Given the description of an element on the screen output the (x, y) to click on. 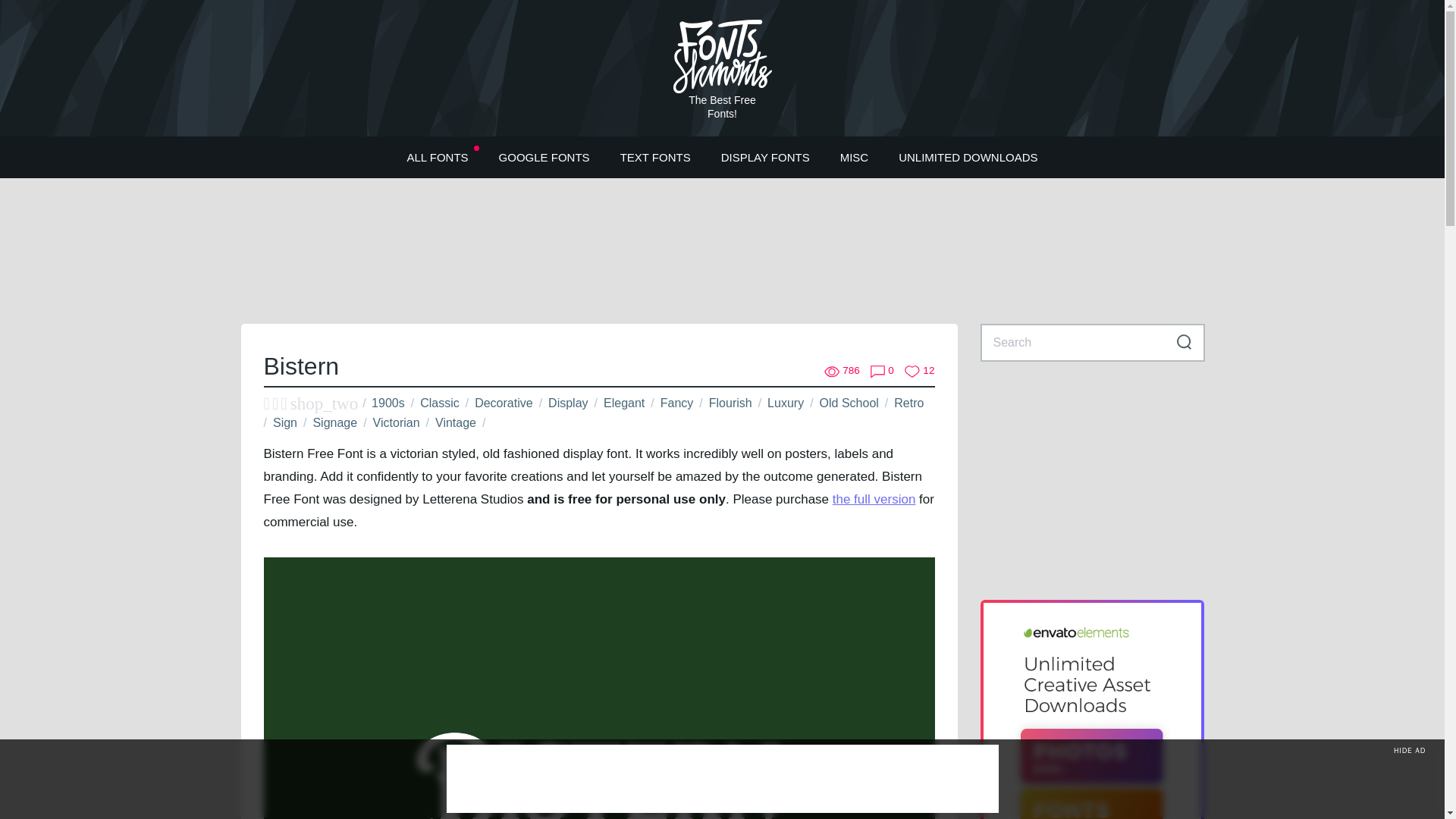
786 (842, 370)
Luxury (785, 402)
Display (568, 402)
Fancy (677, 402)
Flourish (730, 402)
GOOGLE FONTS (544, 156)
DISPLAY FONTS (765, 156)
All Fonts (437, 156)
0 (881, 370)
ALL FONTS (437, 156)
